Given the description of an element on the screen output the (x, y) to click on. 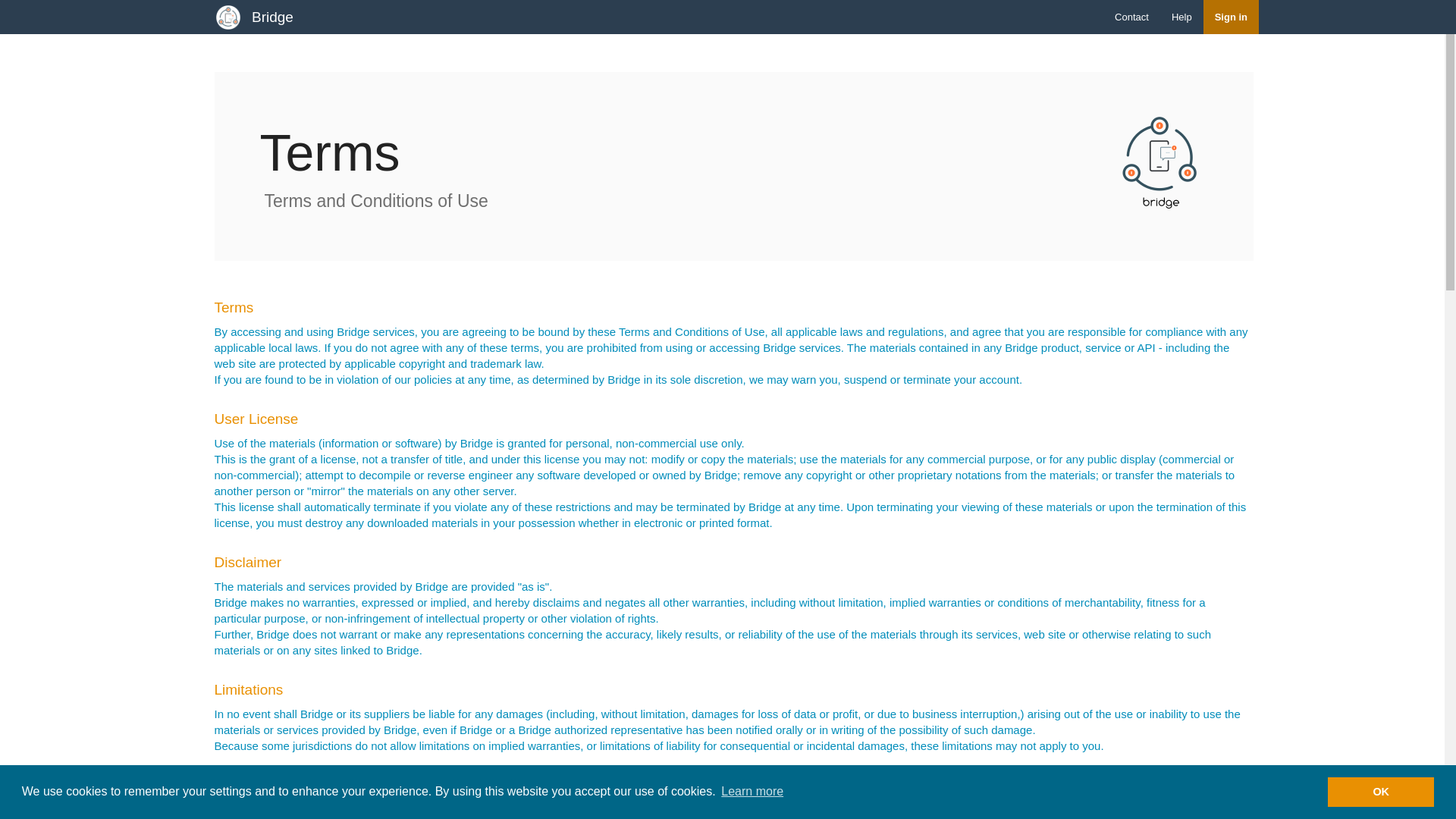
Sign in (1231, 17)
Contact us (1131, 17)
Contact (1131, 17)
Bridge (272, 17)
Help (1182, 17)
OK (1380, 791)
Learn more (752, 791)
